Given the description of an element on the screen output the (x, y) to click on. 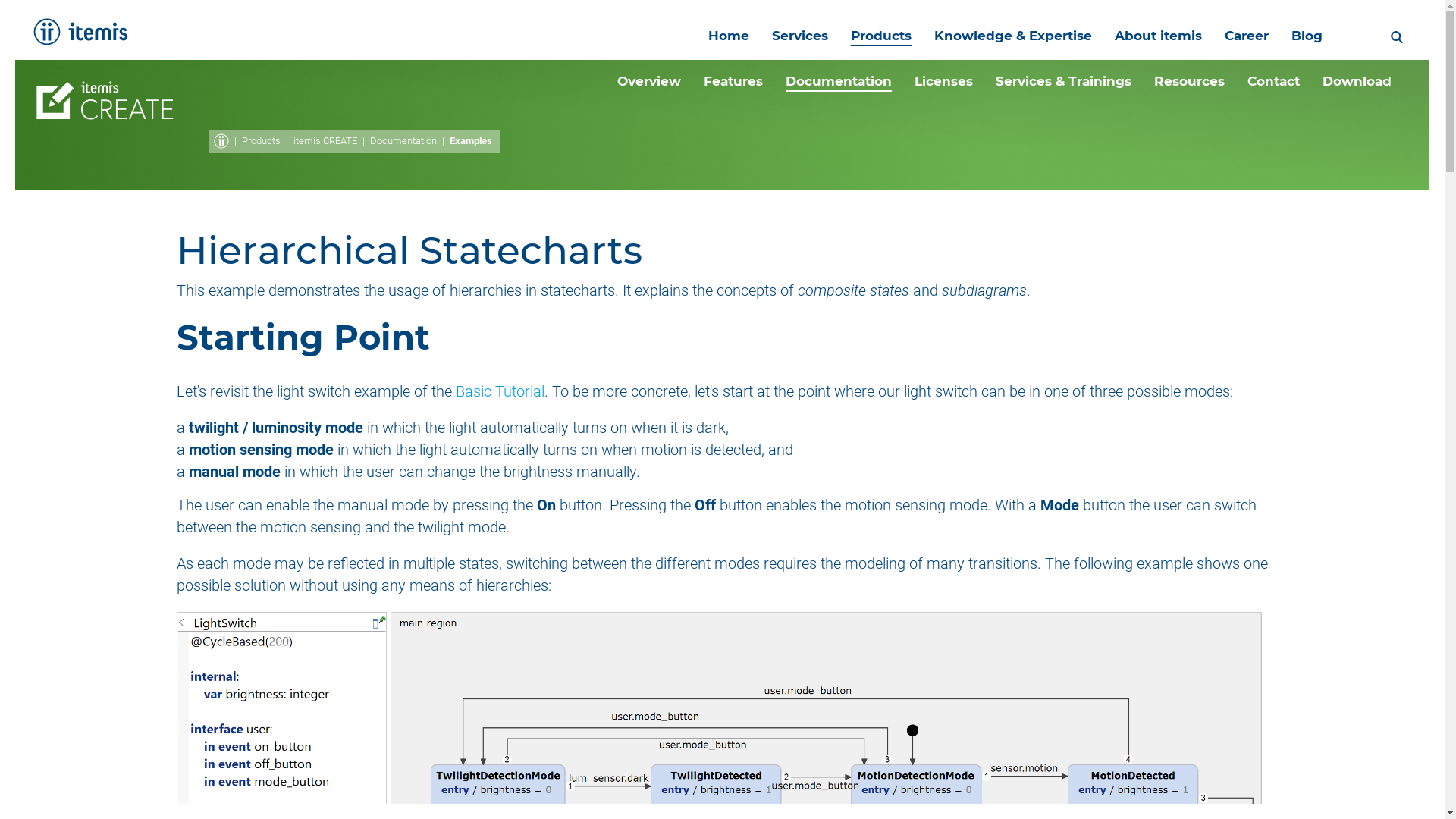
Home (220, 140)
itemis (79, 31)
Documentation (402, 140)
Products (880, 34)
Services (799, 34)
Products (260, 140)
Home (728, 34)
itemis CREATE (324, 140)
